Given the description of an element on the screen output the (x, y) to click on. 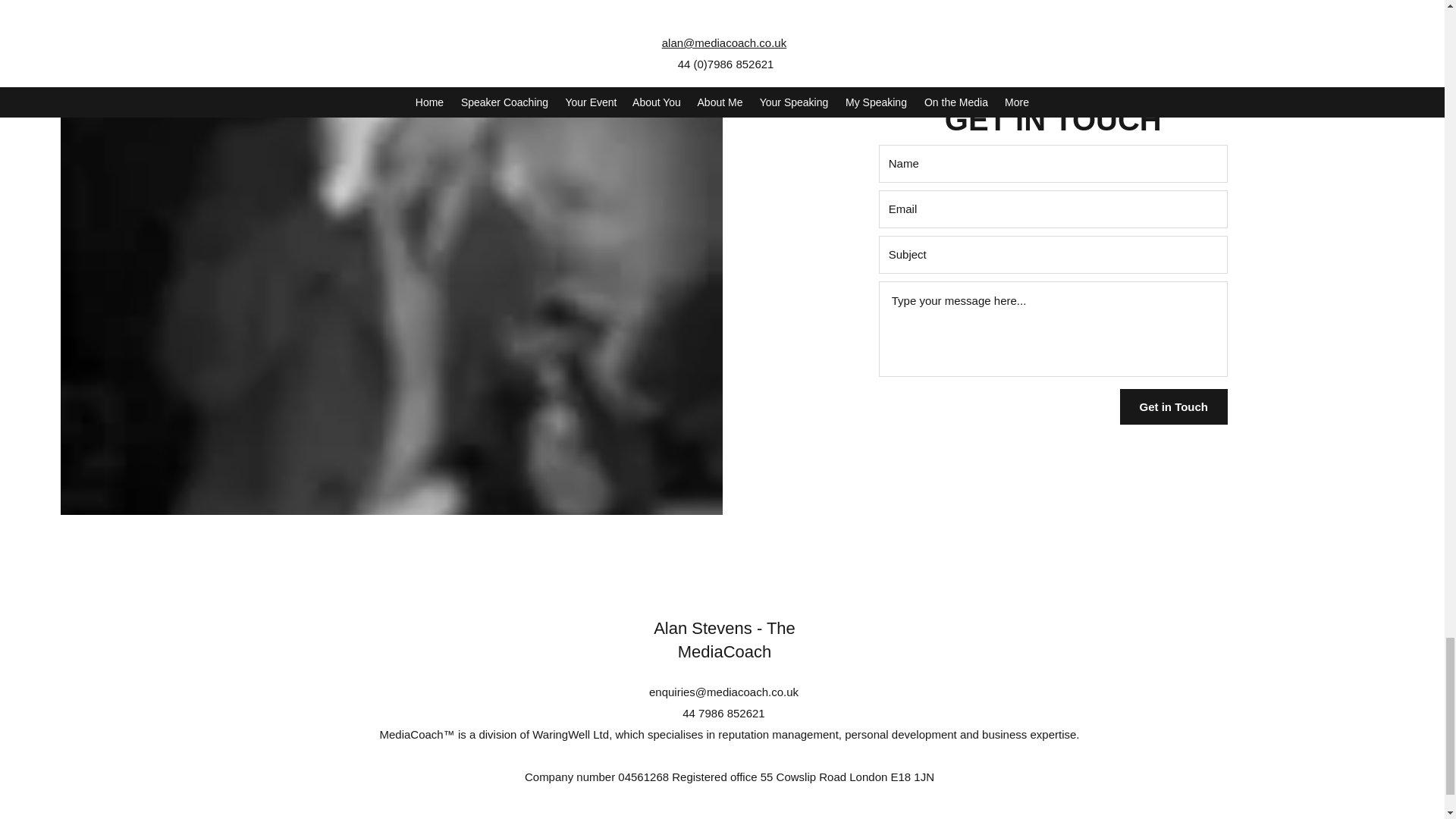
Get in Touch (1173, 407)
Alan Stevens - The MediaCoach (723, 639)
